Given the description of an element on the screen output the (x, y) to click on. 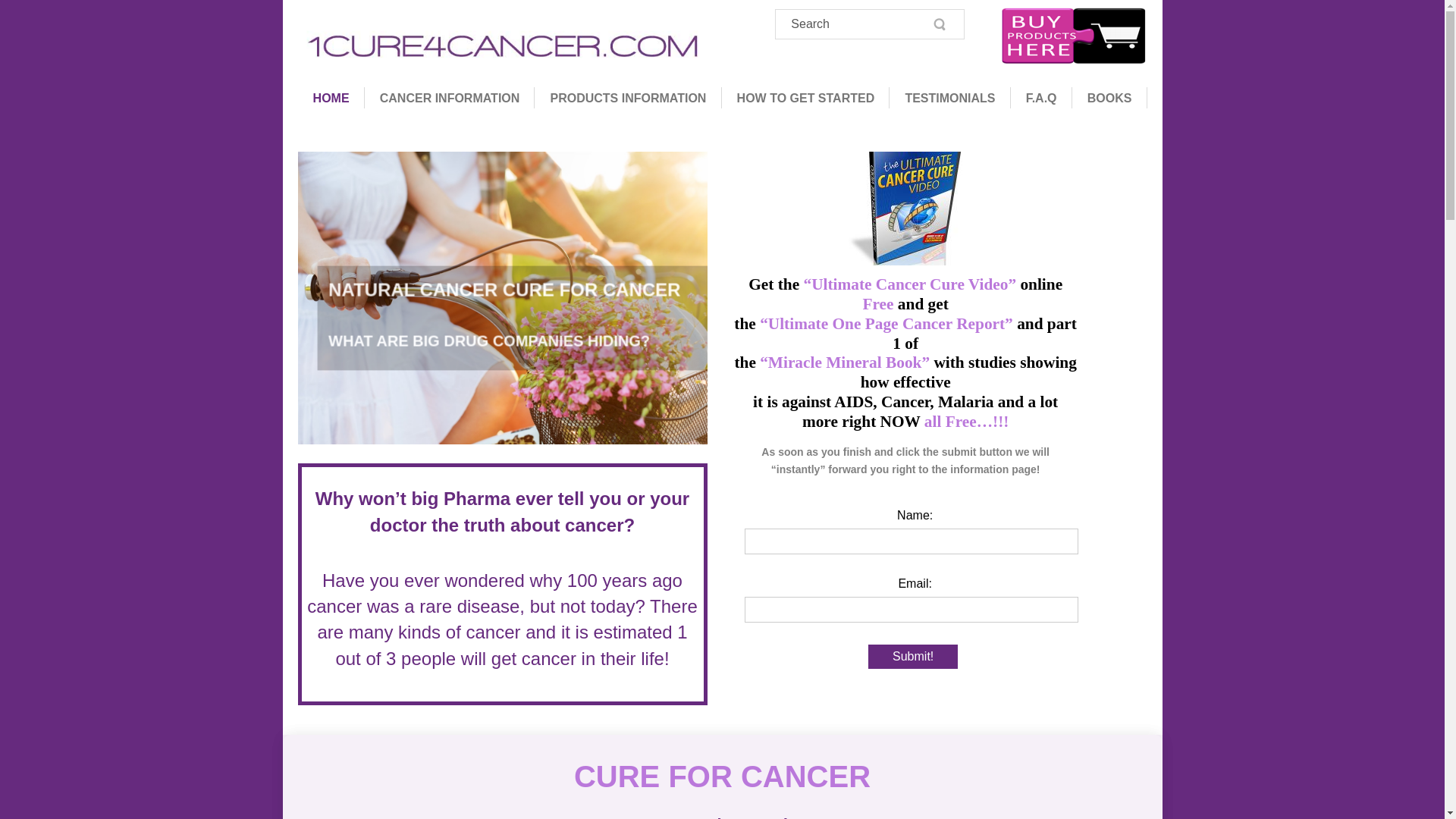
HOME Element type: text (330, 97)
HOW TO GET STARTED Element type: text (805, 97)
CANCER INFORMATION Element type: text (449, 97)
TESTIMONIALS Element type: text (949, 97)
BOOKS Element type: text (1109, 97)
Submit! Element type: text (912, 656)
PRODUCTS INFORMATION Element type: text (627, 97)
F.A.Q Element type: text (1041, 97)
